Given the description of an element on the screen output the (x, y) to click on. 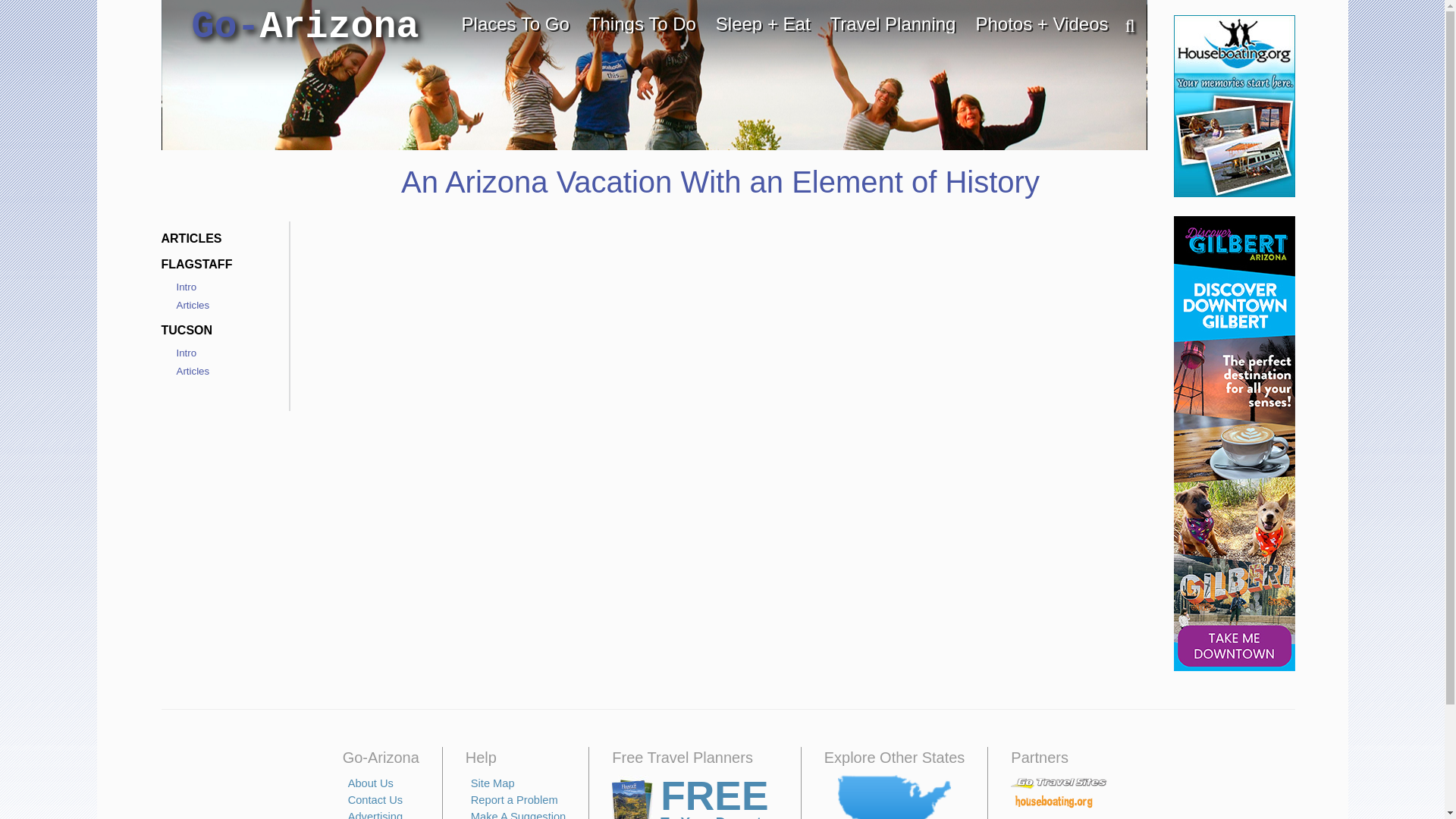
Information about advertising on this site. (375, 814)
Things To Do (643, 24)
Search Here (1122, 26)
Click here to explore other Go Travel Sites (894, 796)
A record of major sections of this website. (492, 783)
Contact Information for this site and the Go Travel Sites. (375, 799)
go-arizona.com (304, 27)
Information about this site and the Go Travel Sites. (370, 783)
Request Your Arizona Travel Information (694, 796)
Places To Go (515, 24)
Go-Arizona (304, 27)
Search Here (1122, 26)
